Given the description of an element on the screen output the (x, y) to click on. 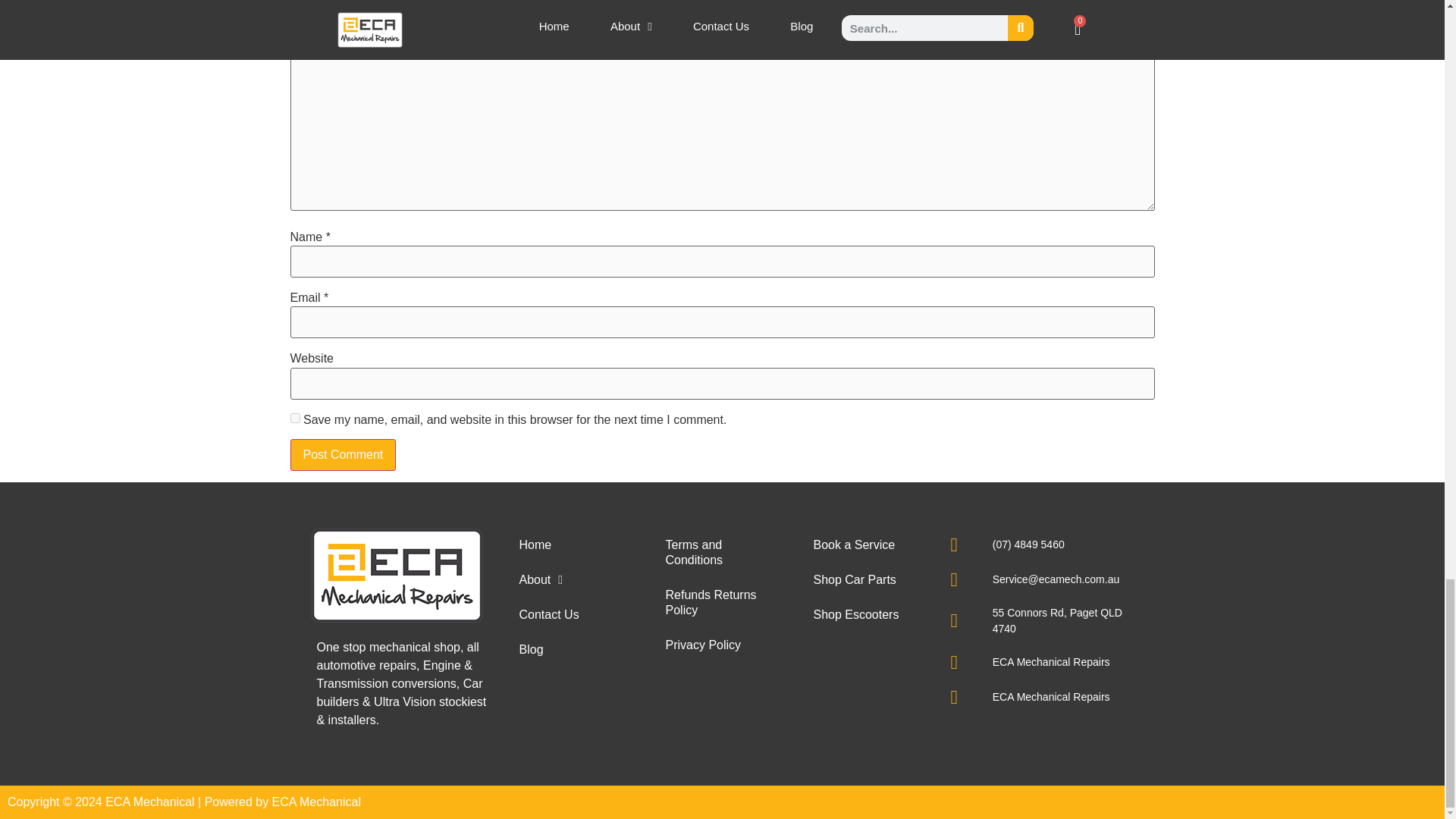
yes (294, 418)
Post Comment (342, 454)
